Given the description of an element on the screen output the (x, y) to click on. 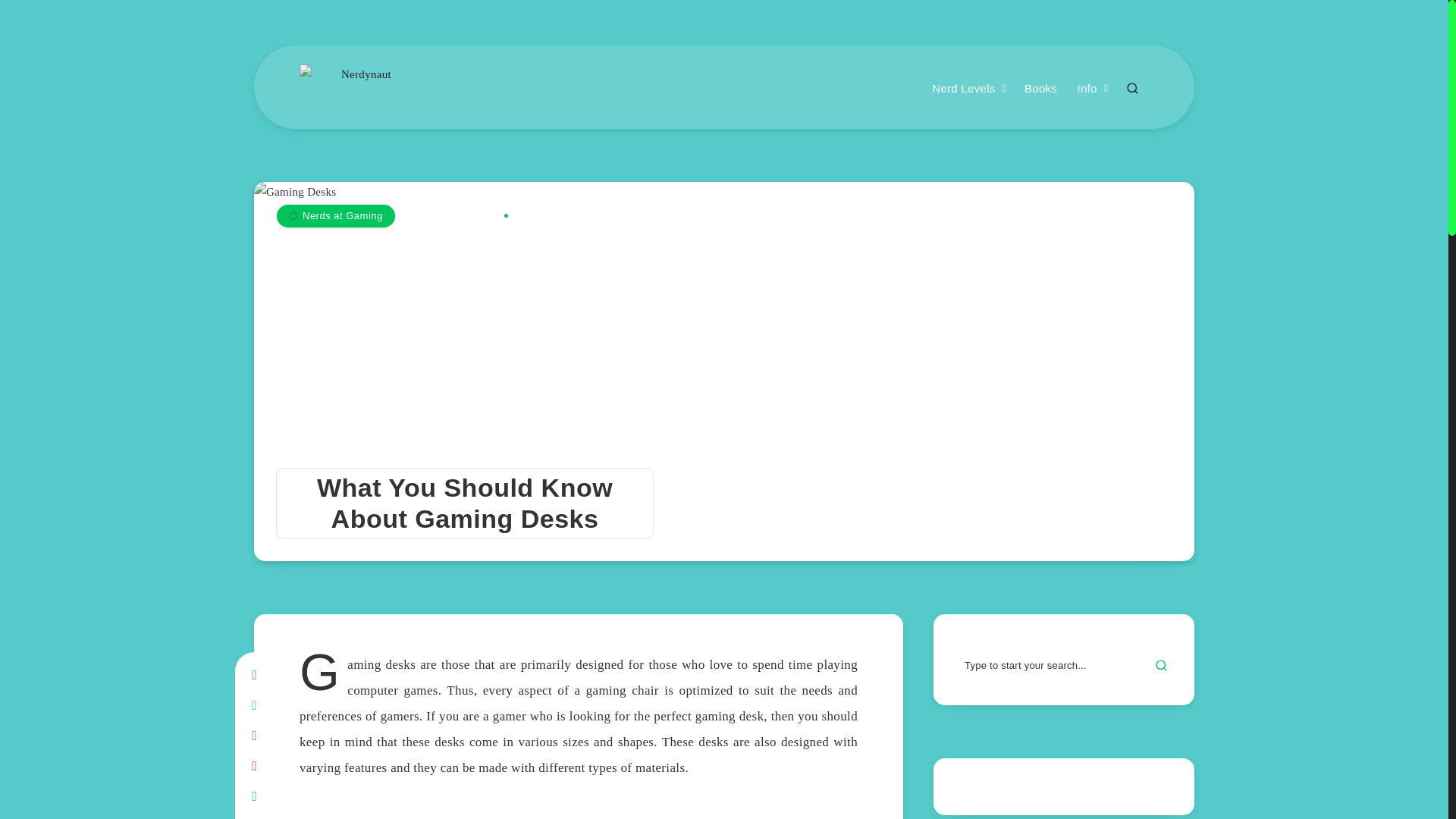
Info (1086, 88)
Books (1041, 88)
Nerd Levels (962, 88)
